Given the description of an element on the screen output the (x, y) to click on. 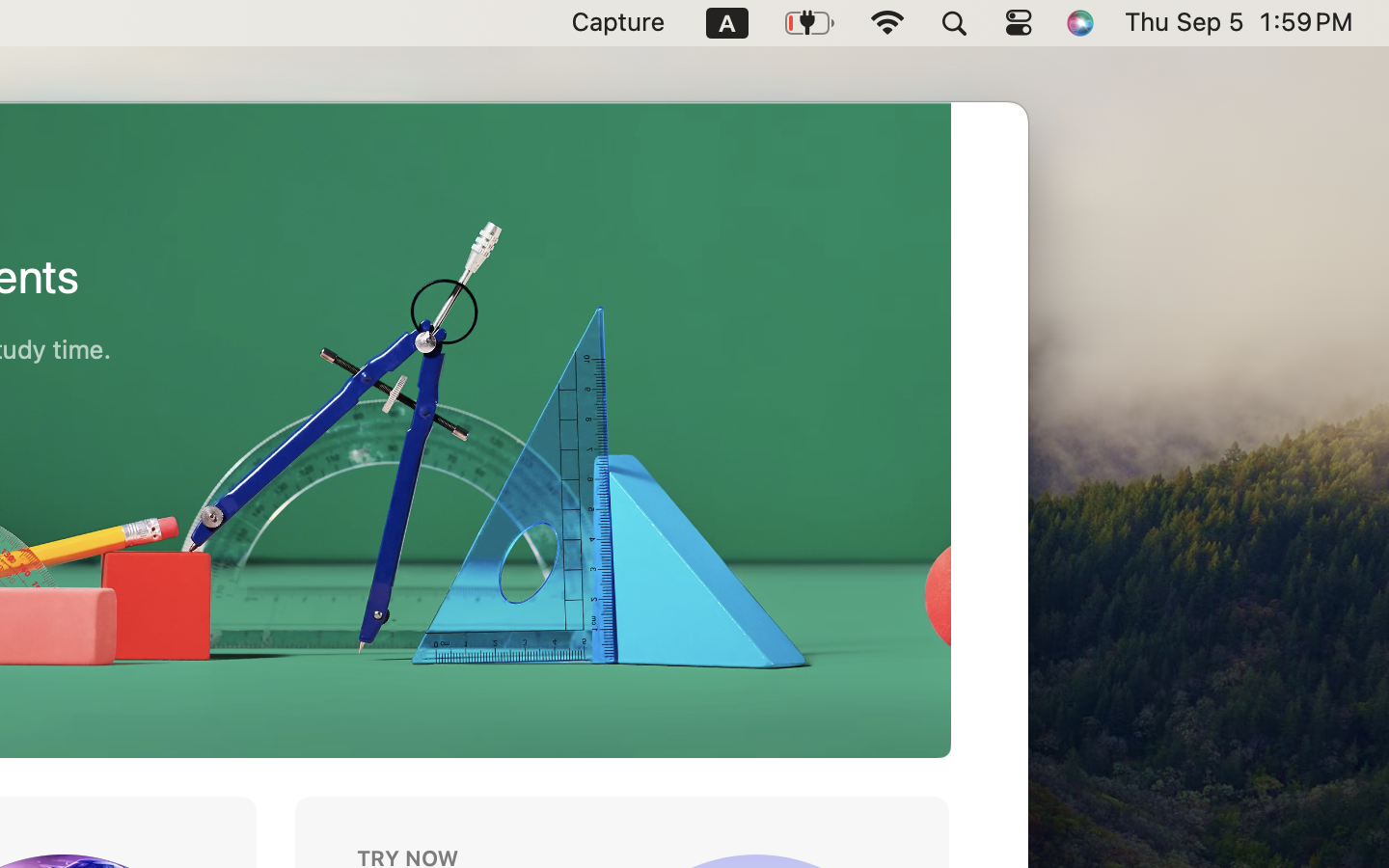
Discover Element type: AXStaticText (276, 151)
